Given the description of an element on the screen output the (x, y) to click on. 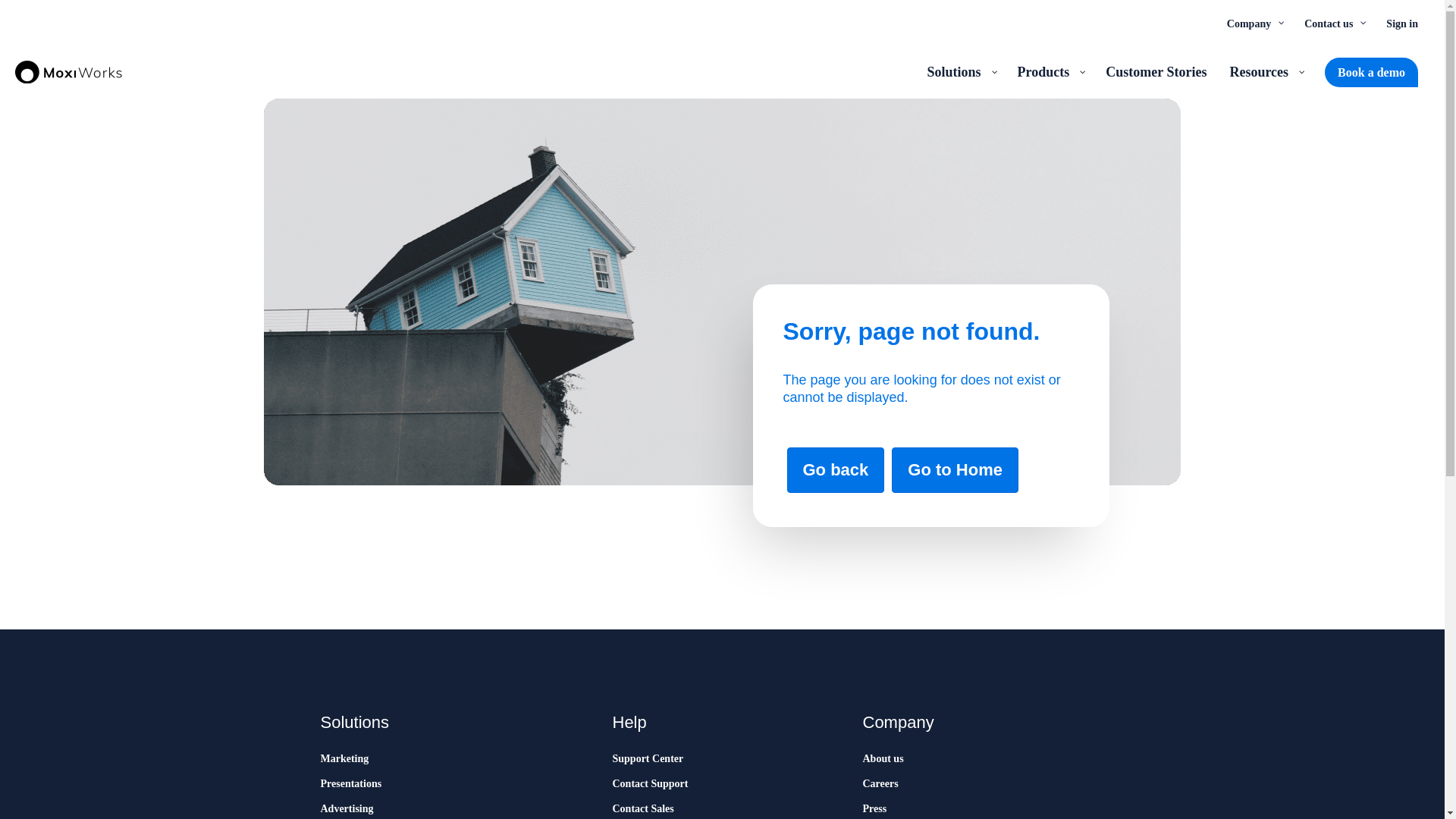
Solutions (960, 72)
Products (1050, 72)
Sign in (1401, 22)
Company (1253, 22)
Contact us (1333, 22)
